Given the description of an element on the screen output the (x, y) to click on. 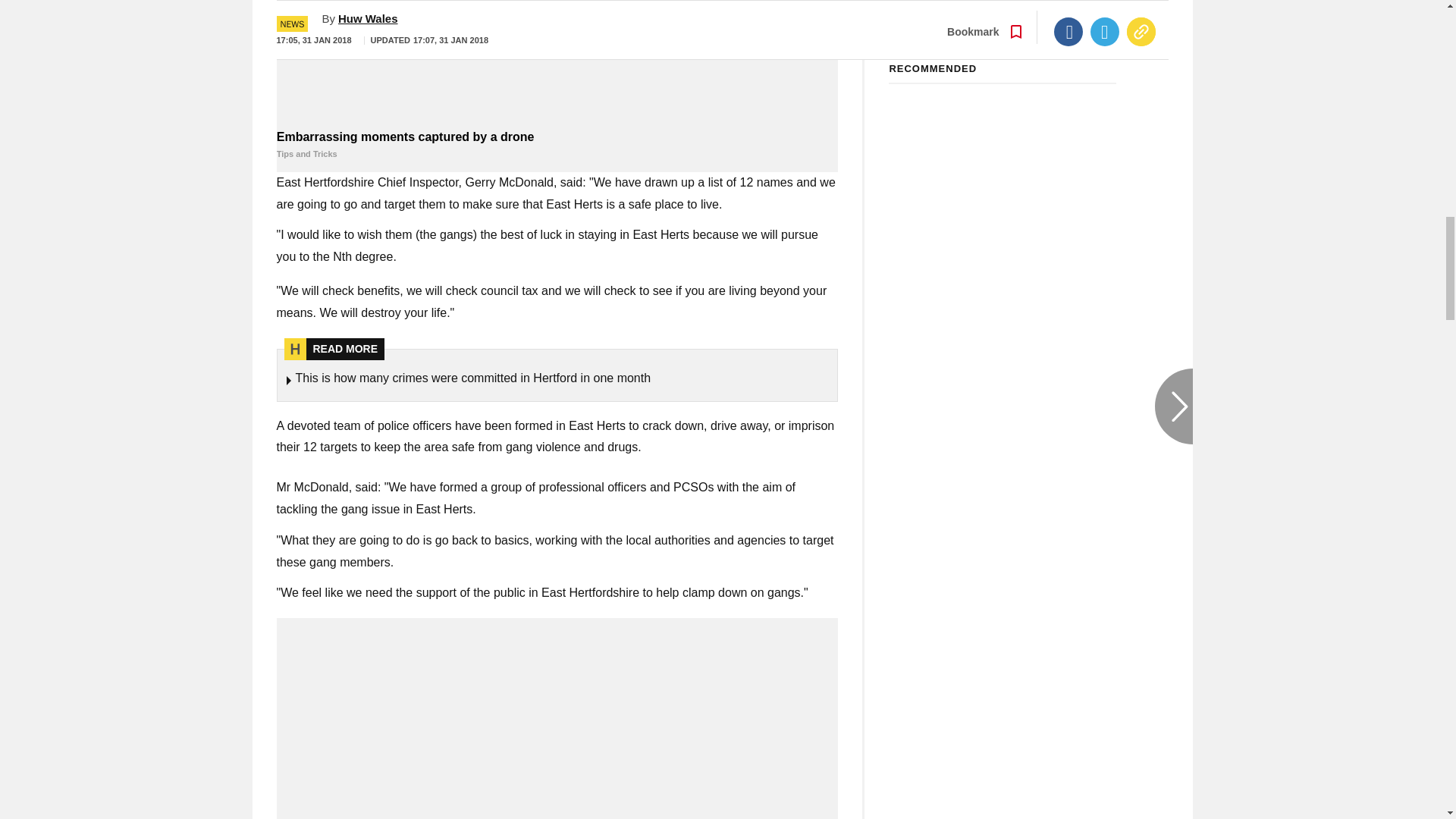
Embarrassing moments captured by a drone (557, 62)
Embarrassing moments captured by a drone (557, 145)
